Given the description of an element on the screen output the (x, y) to click on. 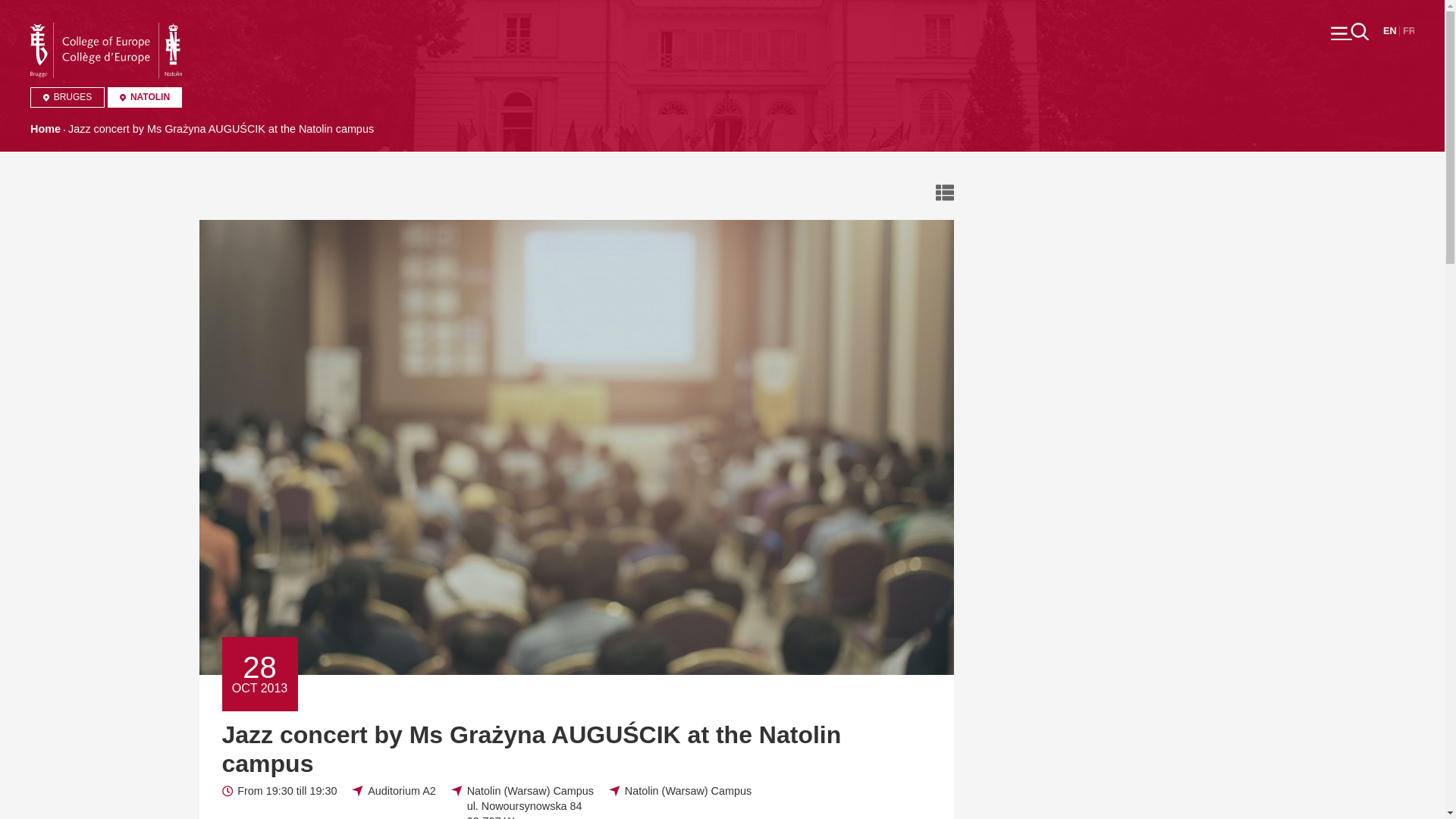
BRUGES (67, 96)
Home (106, 30)
NATOLIN (144, 96)
Home (45, 128)
ENGLISH (1389, 31)
